Given the description of an element on the screen output the (x, y) to click on. 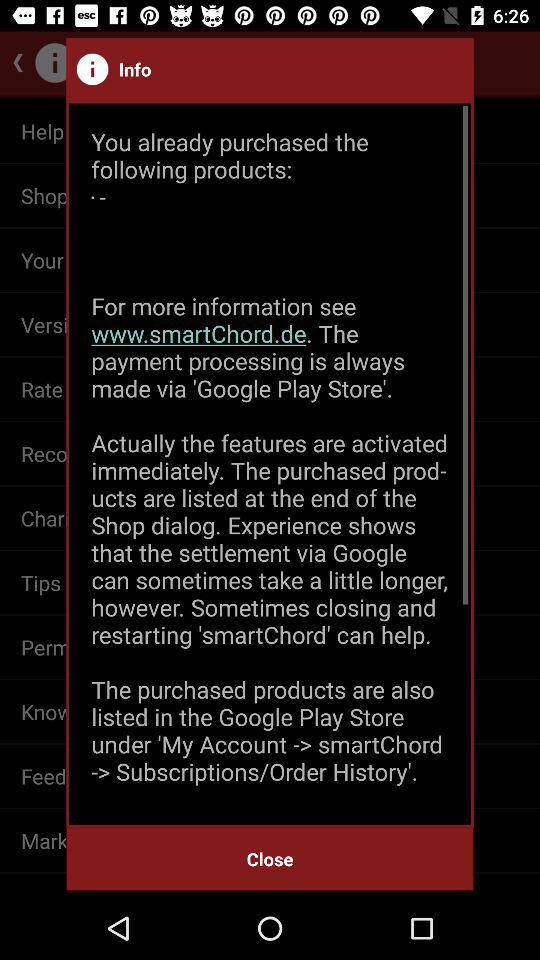
flip until you already purchased (269, 464)
